Given the description of an element on the screen output the (x, y) to click on. 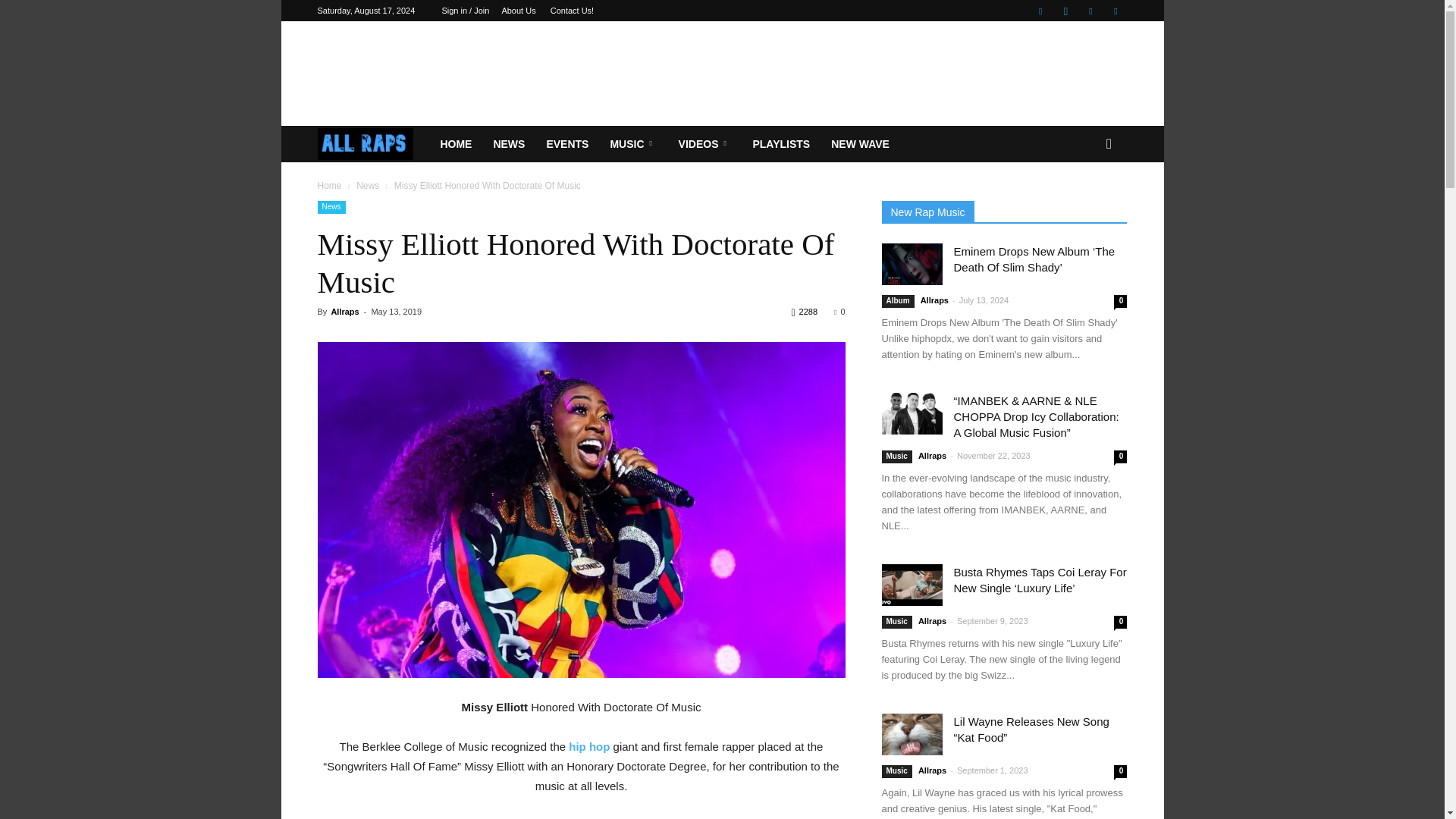
HOME (455, 144)
All Raps (373, 143)
Facebook (1040, 10)
Contact Us! (572, 10)
Spotify (1090, 10)
Advertisement (721, 73)
About Us (517, 10)
Twitter (1114, 10)
Instagram (1065, 10)
Hip-Hop And Rap News, New Music, New Videos And More... (365, 144)
